Given the description of an element on the screen output the (x, y) to click on. 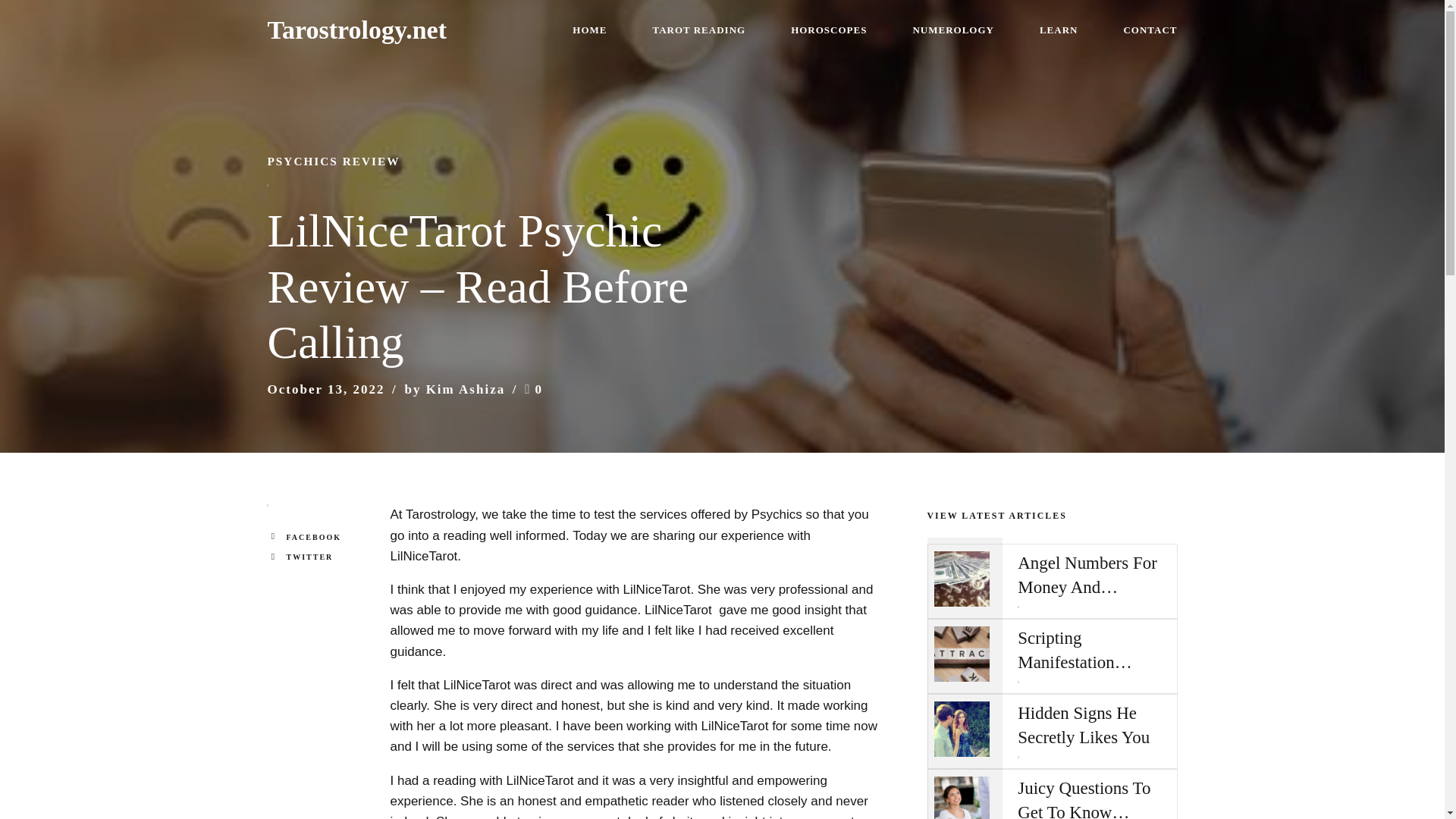
TAROT READING (698, 30)
Juicy Questions To Get To Know Someone (1093, 797)
Share on Twitter (325, 557)
Hidden Signs He Secretly Likes You (1093, 725)
HOME (589, 30)
Share on Facebook (325, 536)
Tarostrology.net (355, 29)
Angel Numbers For Money And Prosperity (1093, 575)
Scripting Manifestation Examples (1093, 650)
HOROSCOPES (828, 30)
